Given the description of an element on the screen output the (x, y) to click on. 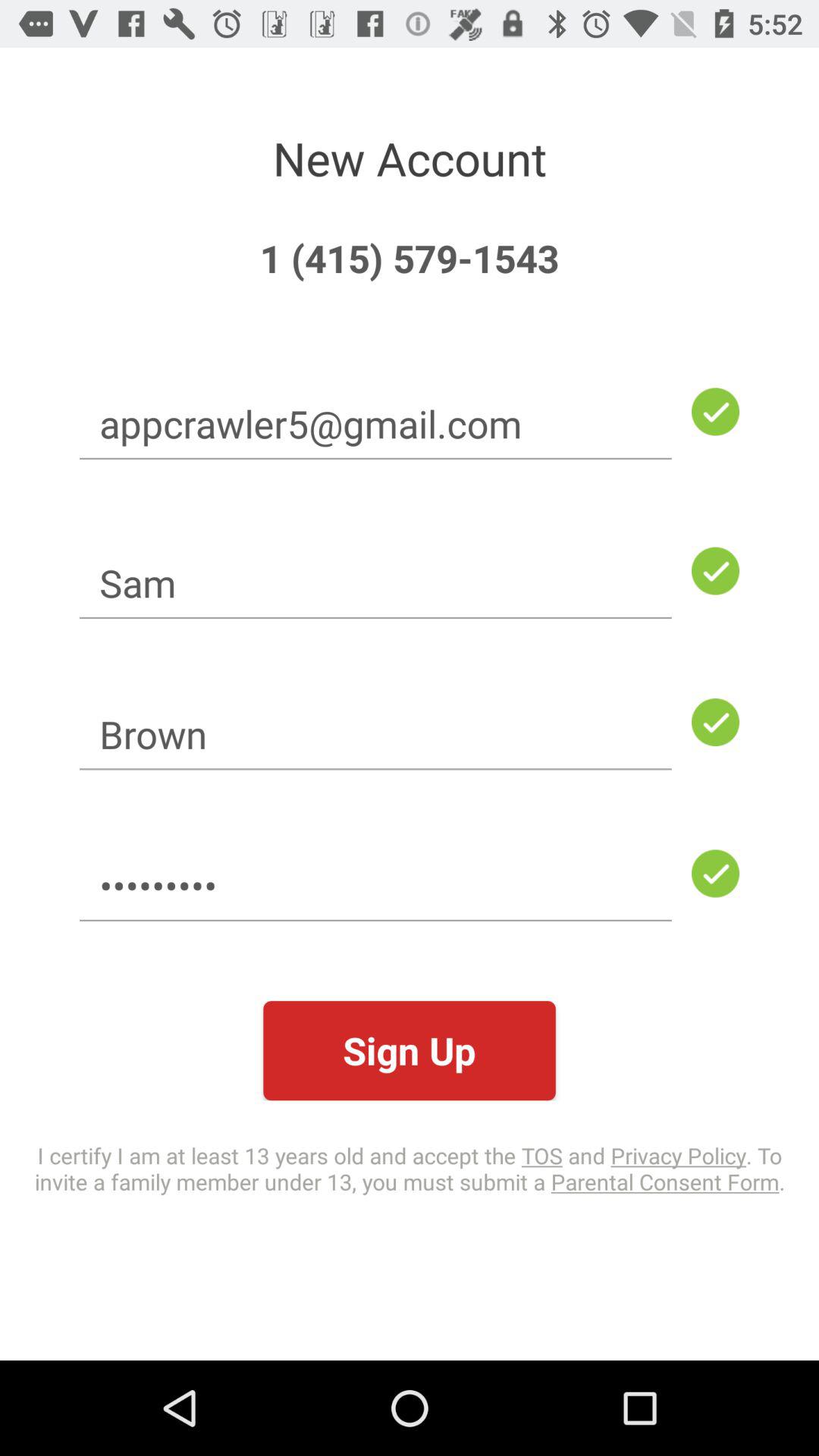
launch the icon below appcrawler5@gmail.com (375, 582)
